Given the description of an element on the screen output the (x, y) to click on. 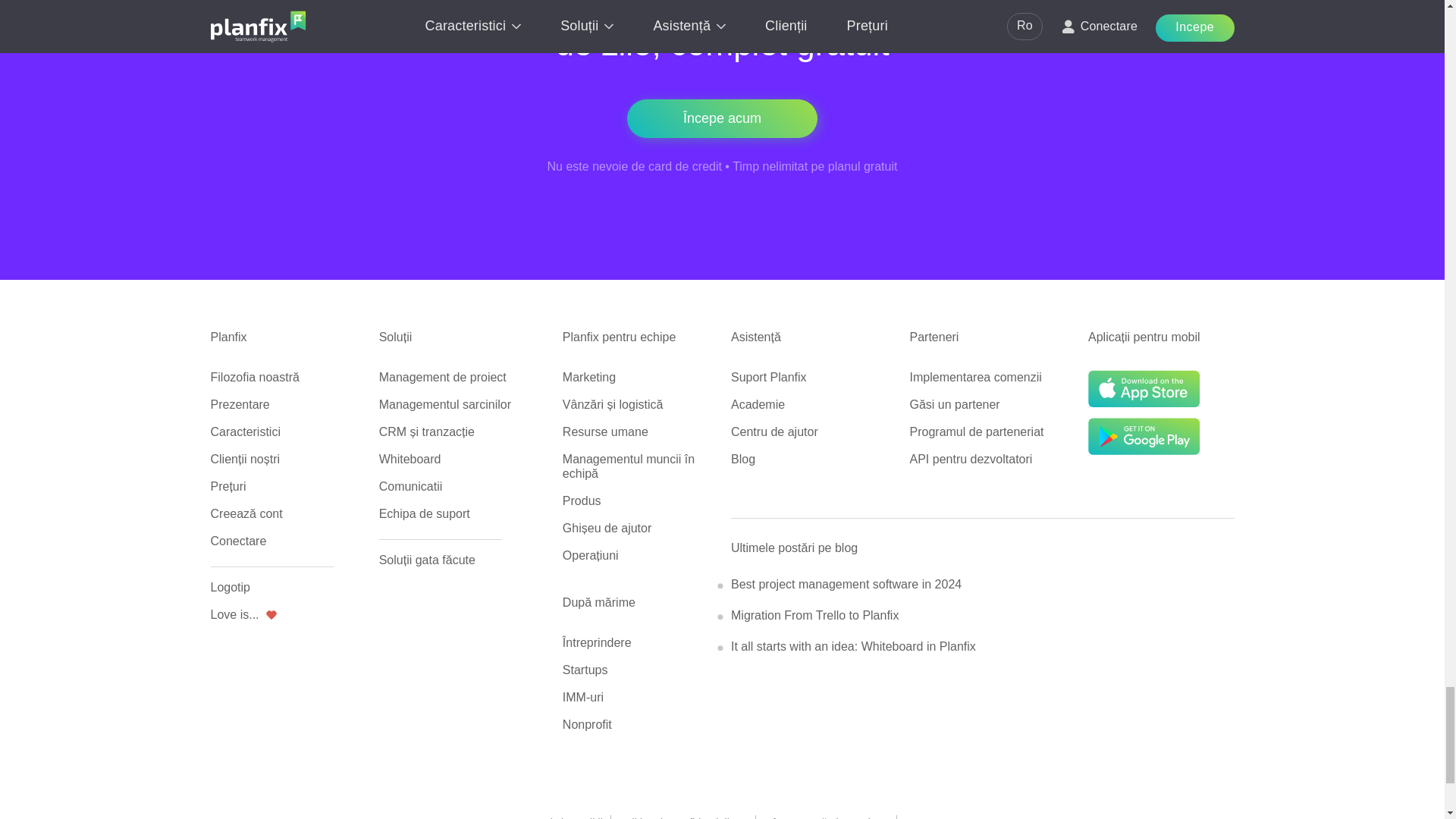
Sign up (721, 118)
